Given the description of an element on the screen output the (x, y) to click on. 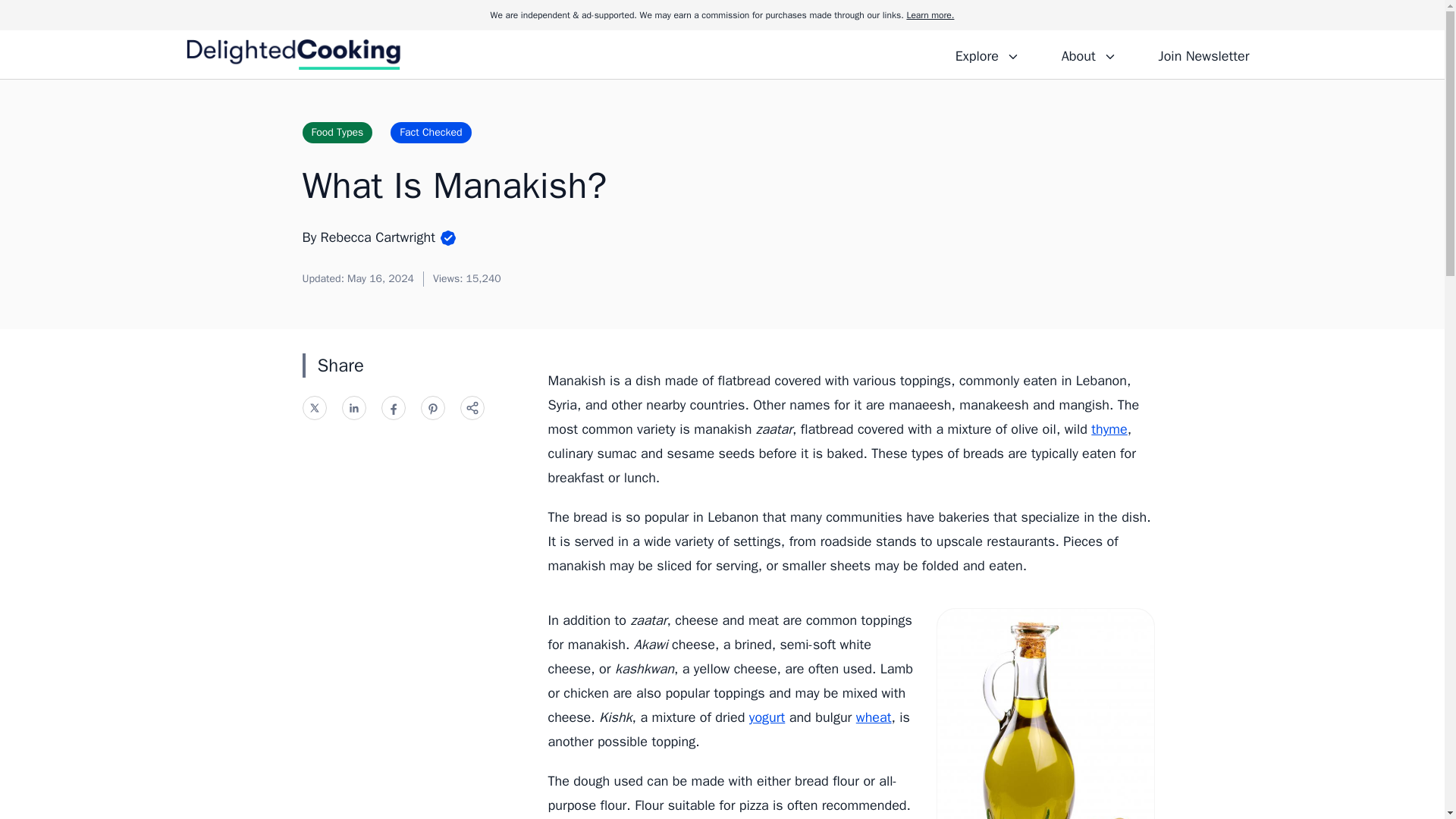
thyme (1108, 428)
Learn more. (929, 15)
wheat (873, 717)
yogurt (766, 717)
Explore (986, 54)
Join Newsletter (1202, 54)
Fact Checked (430, 132)
Food Types (336, 132)
About (1088, 54)
